Given the description of an element on the screen output the (x, y) to click on. 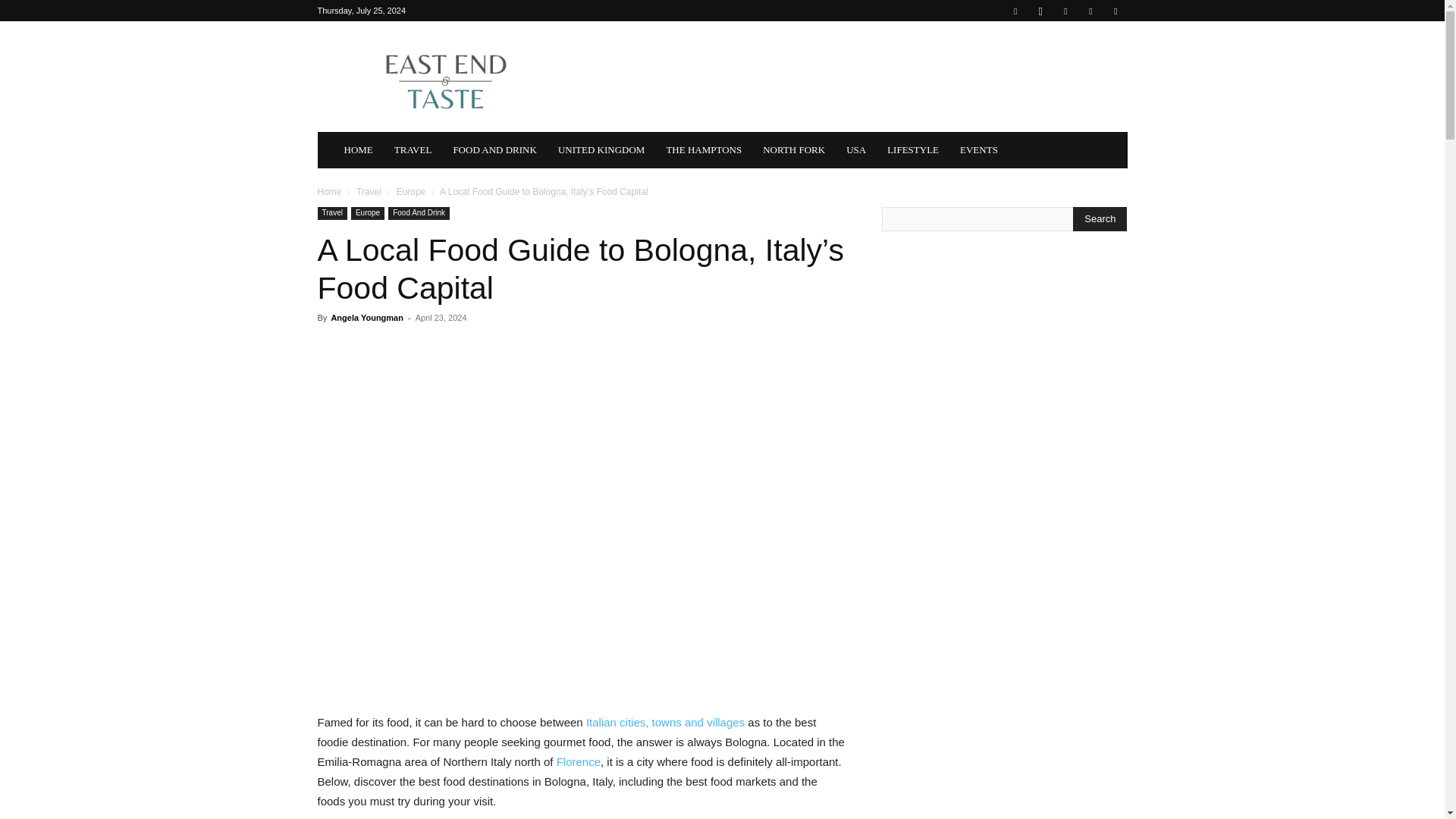
Search (1099, 218)
Twitter (1114, 10)
Instagram (1040, 10)
Reddit (1090, 10)
Facebook (1015, 10)
Pinterest (1065, 10)
